Given the description of an element on the screen output the (x, y) to click on. 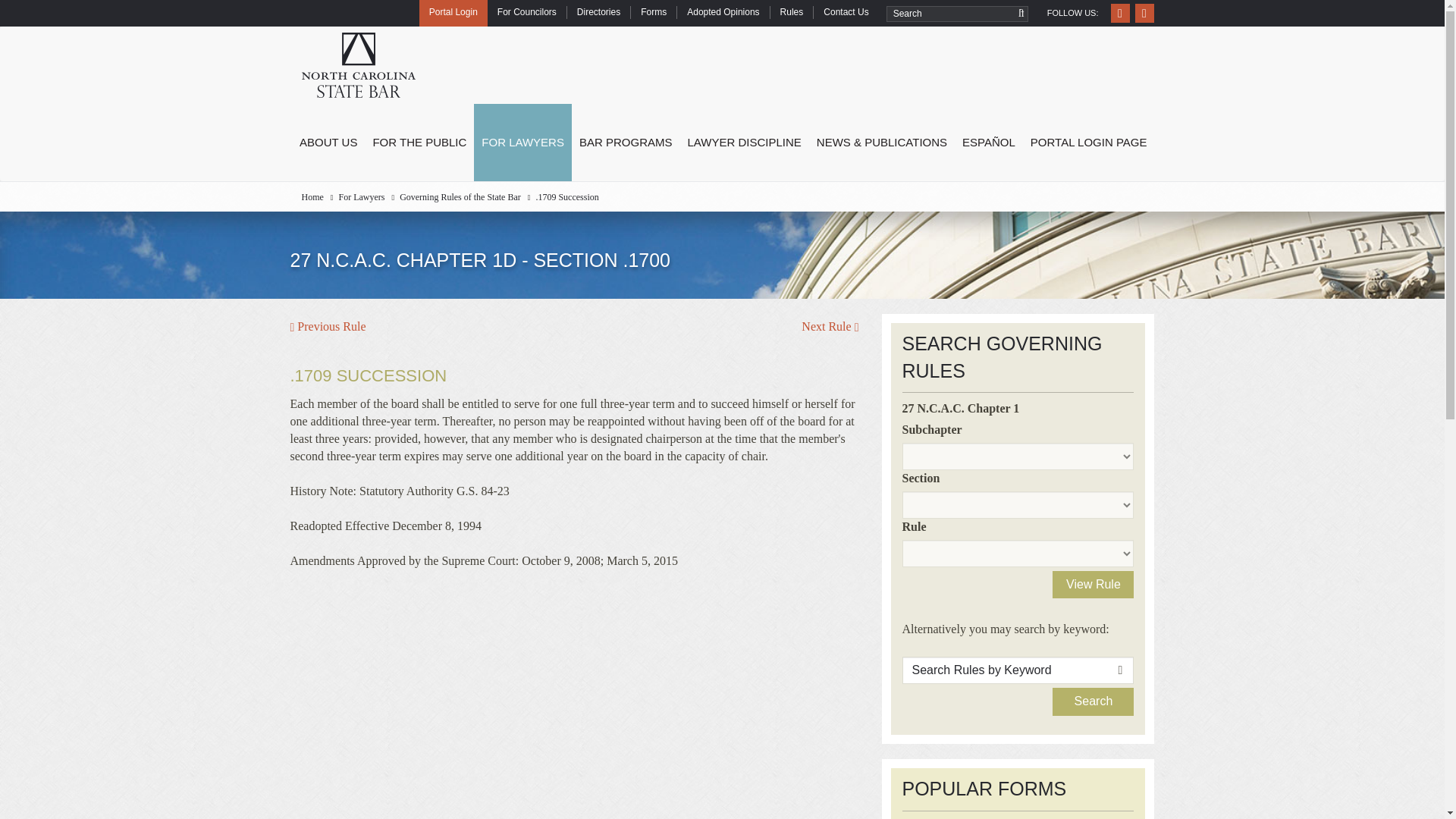
View Rule (1093, 584)
Twitter (1143, 13)
FOR THE PUBLIC (419, 142)
Adopted Opinions (722, 11)
View Rule (1093, 584)
ABOUT US (328, 142)
Navigate to For Lawyers (360, 196)
Navigate to Home (312, 196)
Facebook (1119, 13)
Directories (598, 11)
For Councilors (526, 11)
Rules (791, 11)
Forms (653, 11)
Navigate to Governing Rules of the State Bar (459, 196)
Contact Us (844, 11)
